Given the description of an element on the screen output the (x, y) to click on. 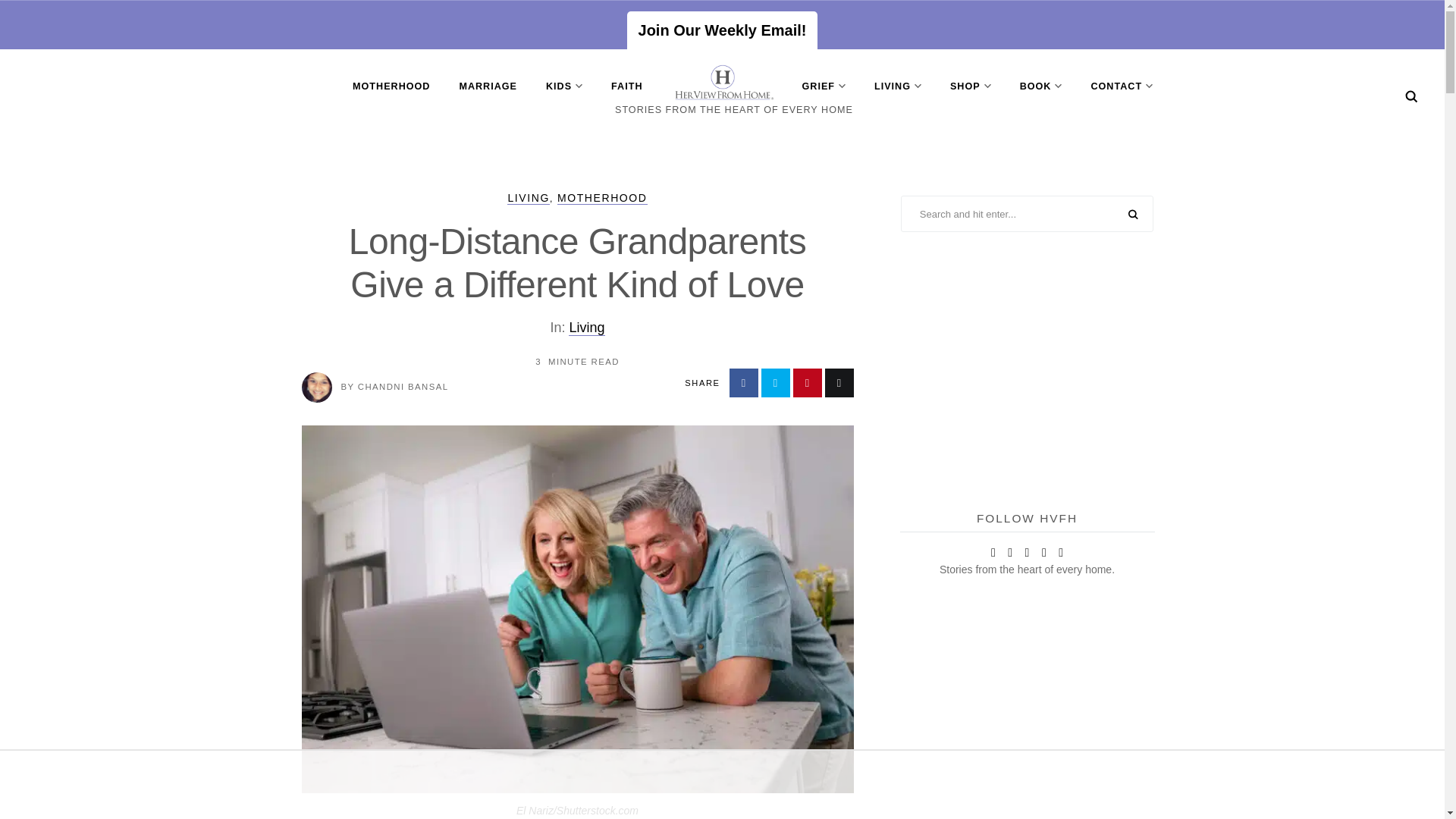
Share on Facebook (743, 382)
Share on Twitter (775, 382)
Share on Pinterest (807, 382)
Share by Email (839, 382)
SEARCH (1133, 214)
Search (1411, 96)
